Given the description of an element on the screen output the (x, y) to click on. 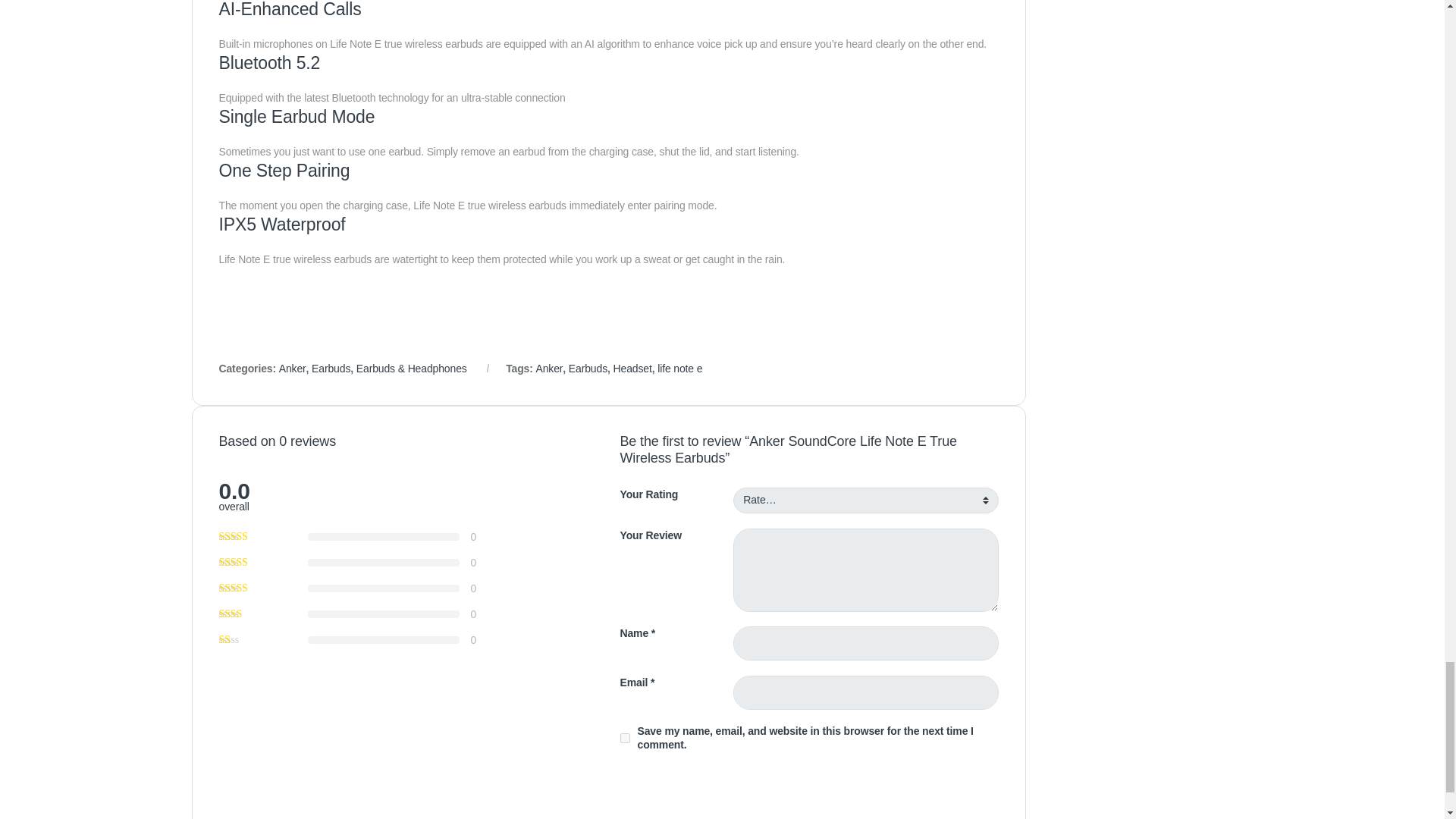
yes (625, 737)
